Given the description of an element on the screen output the (x, y) to click on. 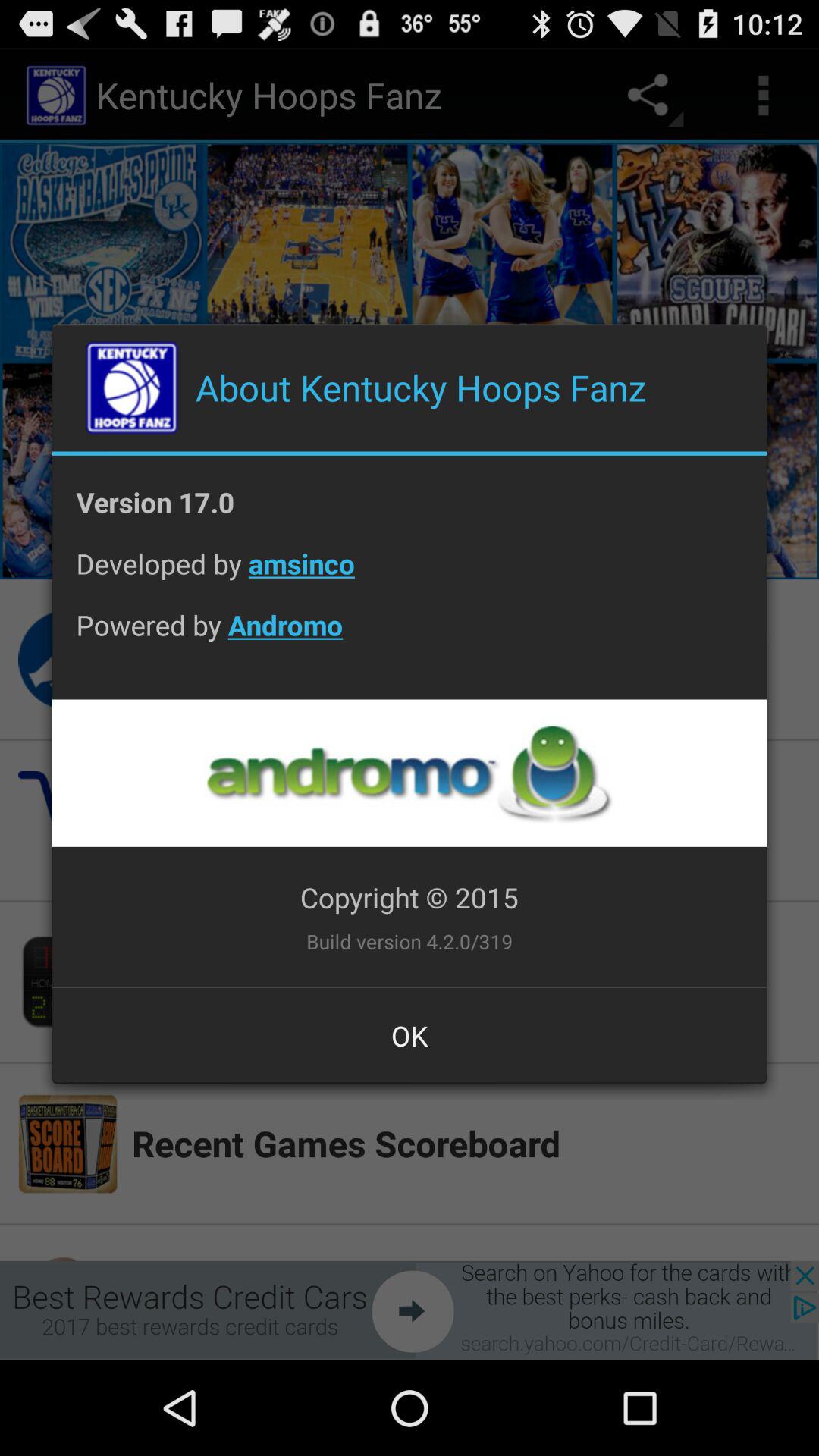
choose ok at the bottom (409, 1035)
